Given the description of an element on the screen output the (x, y) to click on. 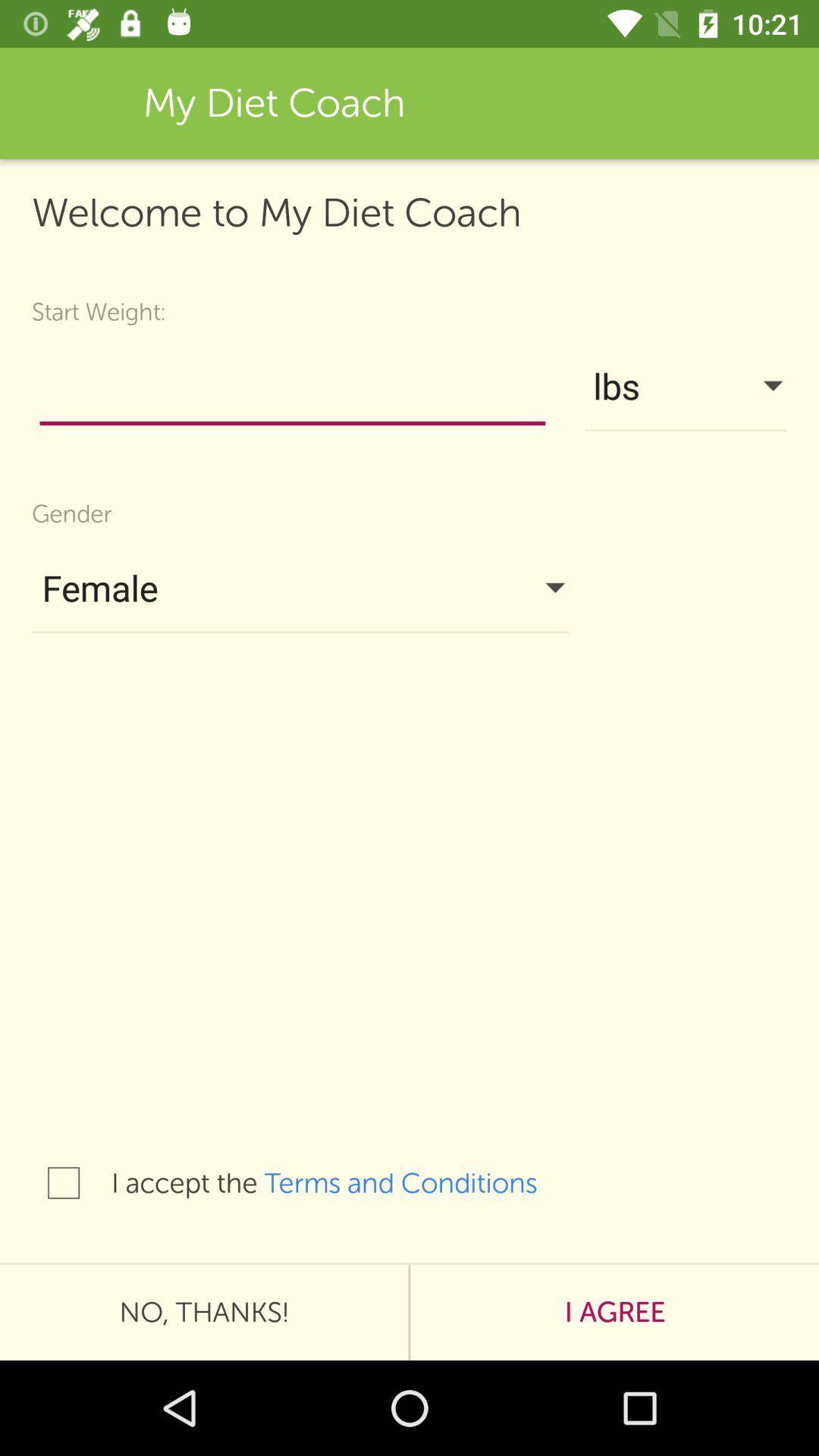
click icon below start weight: (292, 389)
